Given the description of an element on the screen output the (x, y) to click on. 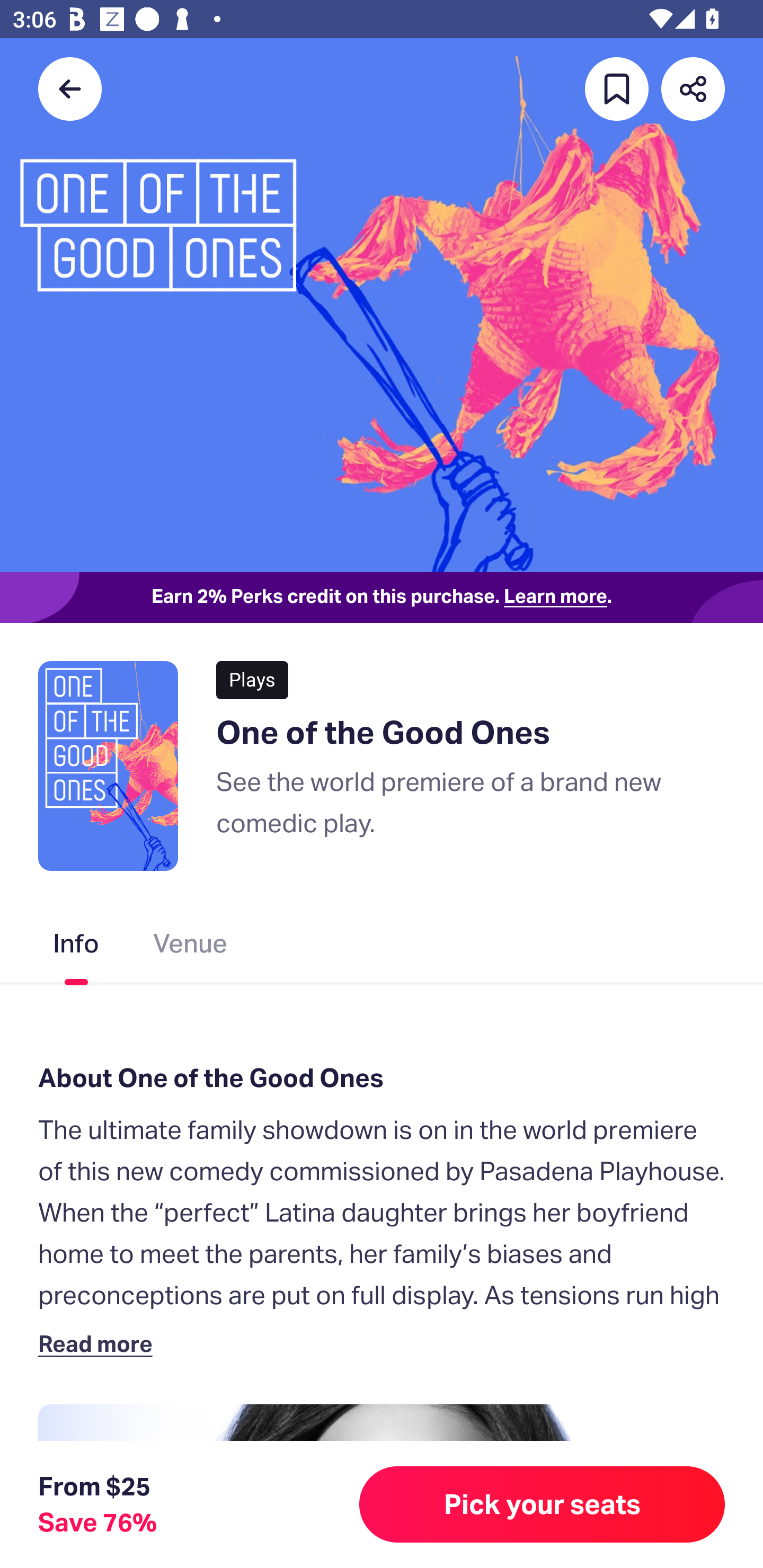
Earn 2% Perks credit on this purchase. Learn more. (381, 597)
Venue (190, 946)
About One of the Good Ones (381, 1077)
Read more (99, 1342)
Pick your seats (541, 1504)
